Given the description of an element on the screen output the (x, y) to click on. 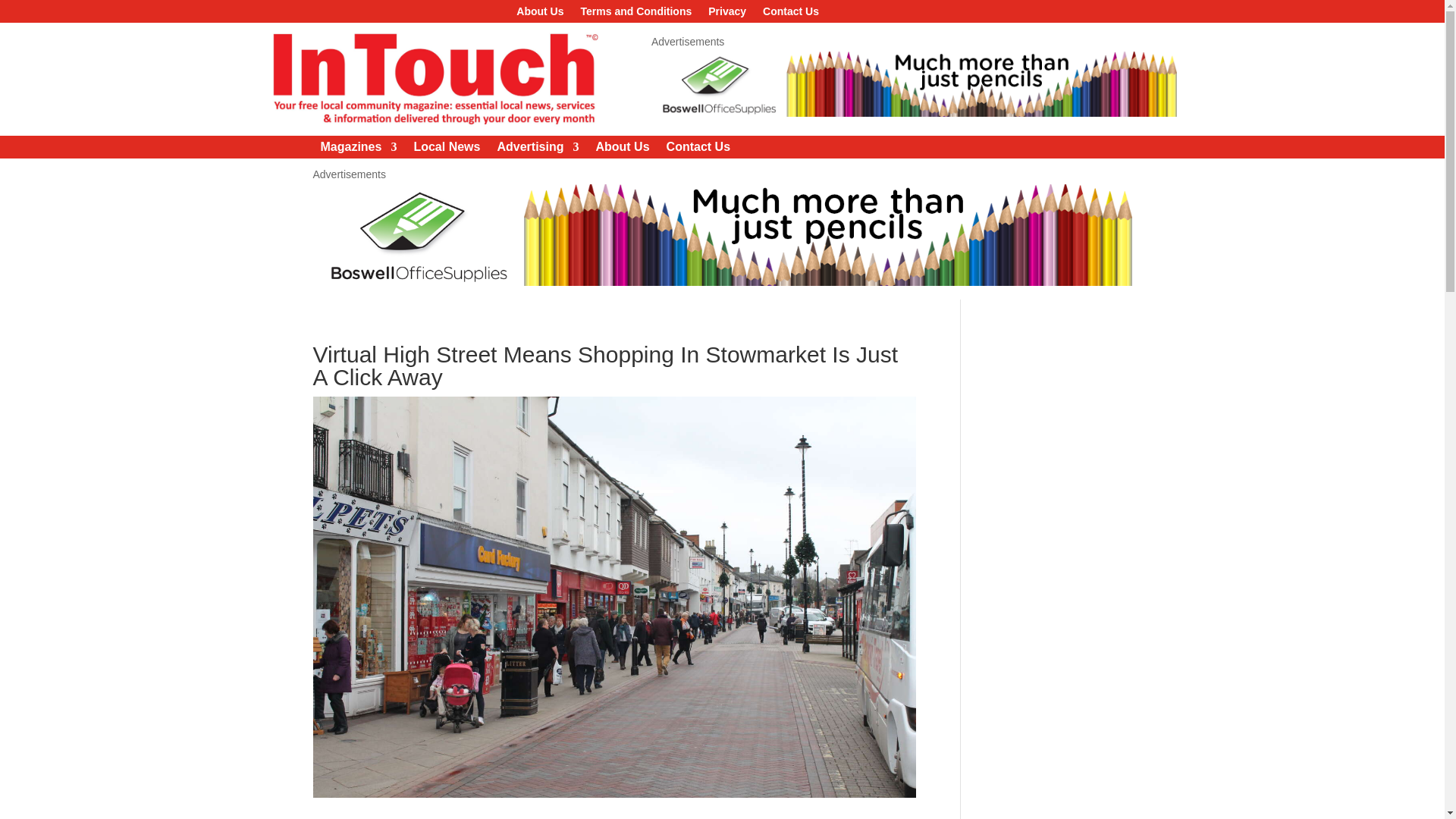
Magazines (358, 149)
About Us (622, 149)
Local News (446, 149)
Terms and Conditions (636, 13)
InTouch Logo (432, 78)
Contact Us (698, 149)
About Us (539, 13)
Contact Us (790, 13)
Advertising (537, 149)
Privacy (726, 13)
